Given the description of an element on the screen output the (x, y) to click on. 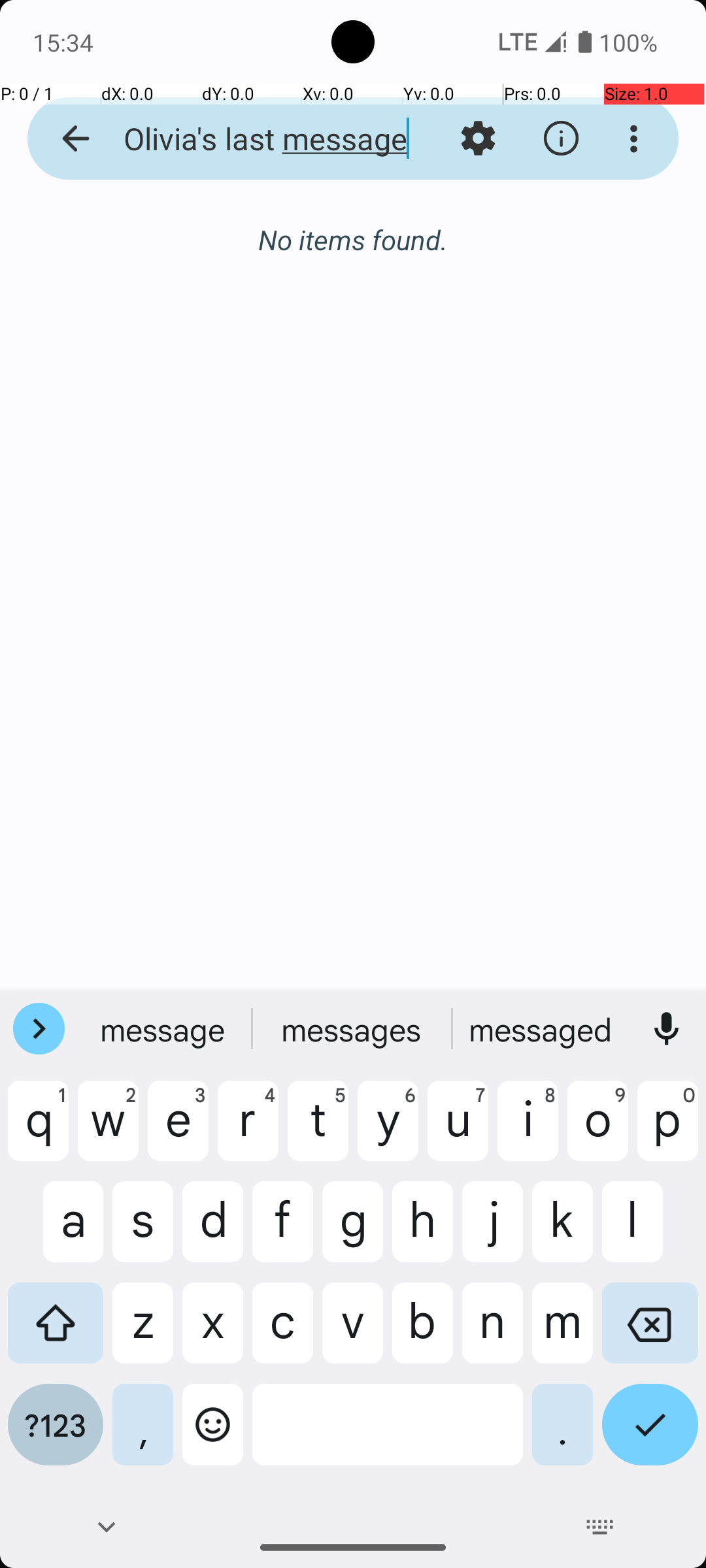
Olivia's last message Element type: android.widget.EditText (252, 138)
Olivia Mohamed Element type: android.widget.TextView (408, 237)
message Element type: android.widget.FrameLayout (163, 1028)
messages Element type: android.widget.FrameLayout (541, 1028)
